Given the description of an element on the screen output the (x, y) to click on. 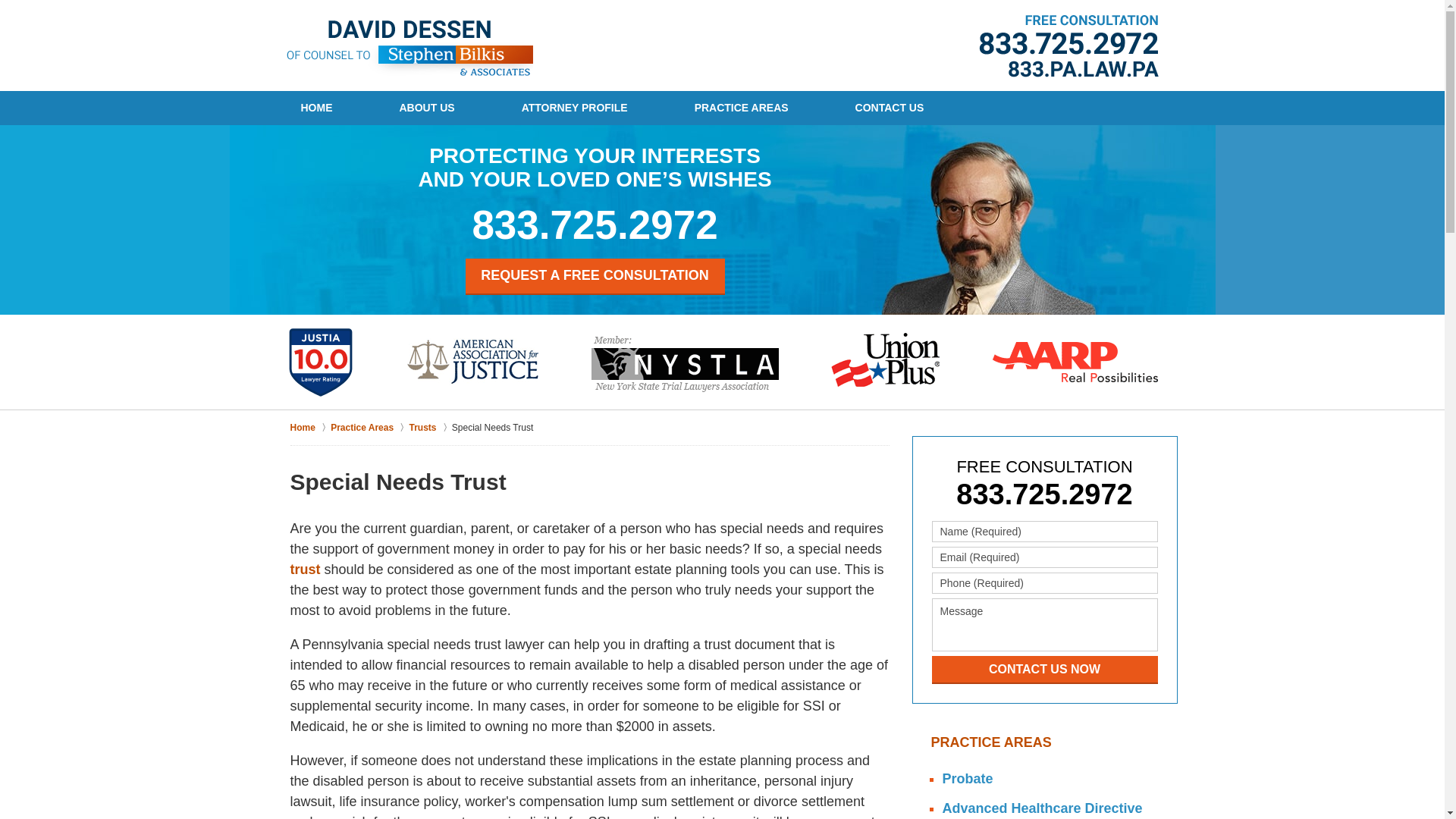
Advanced Healthcare Directive (1043, 806)
Back to Home (409, 47)
Home (309, 427)
PRACTICE AREAS (1044, 742)
Practice Areas (369, 427)
Probate (1043, 779)
PRACTICE AREAS (741, 107)
HOME (315, 107)
ABOUT US (426, 107)
CONTACT US (890, 107)
REQUEST A FREE CONSULTATION (595, 276)
FREE CONSULTATION (1044, 466)
trust (304, 569)
Trusts (430, 427)
ATTORNEY PROFILE (574, 107)
